Given the description of an element on the screen output the (x, y) to click on. 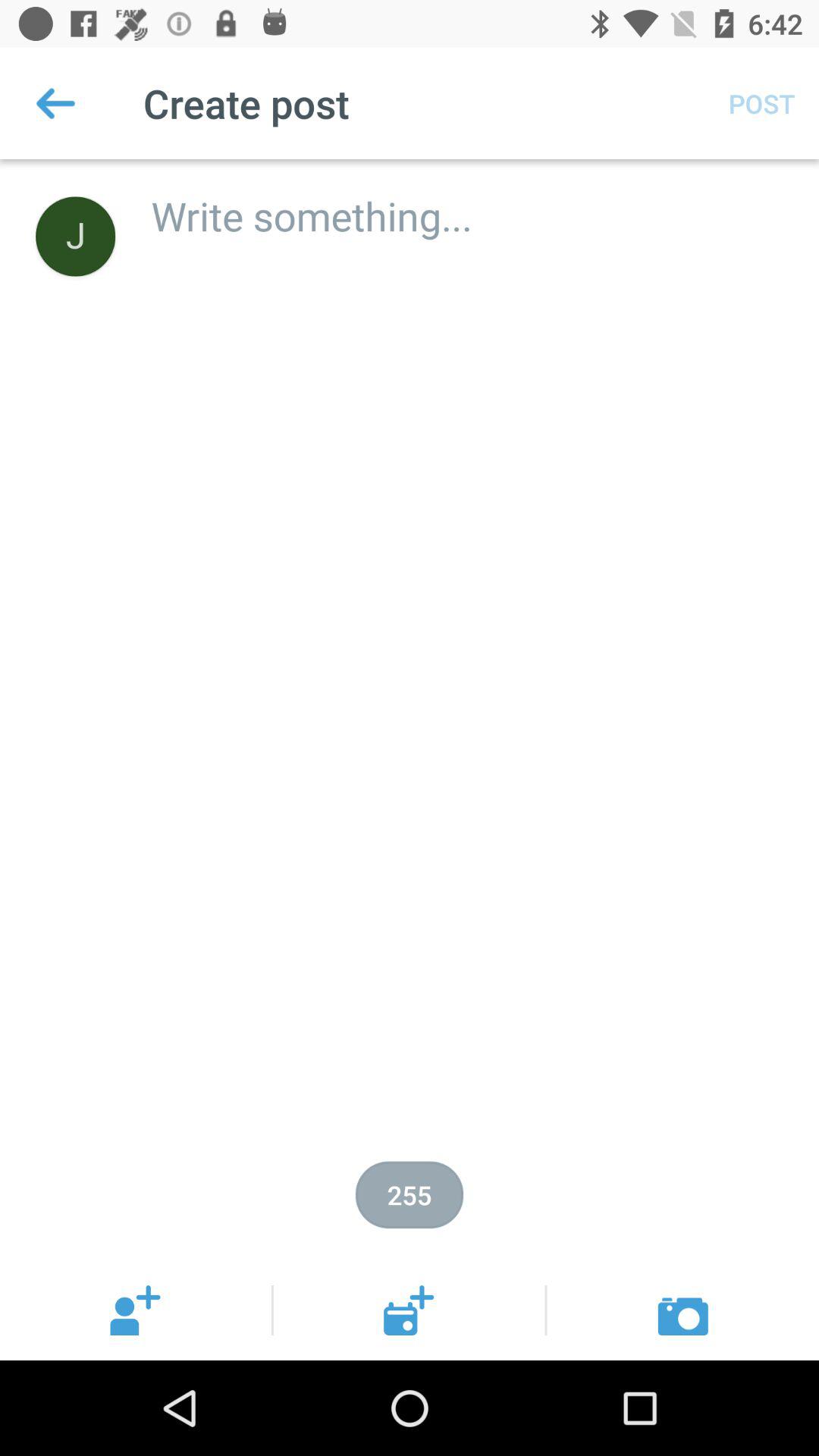
launch the icon below post item (469, 200)
